Given the description of an element on the screen output the (x, y) to click on. 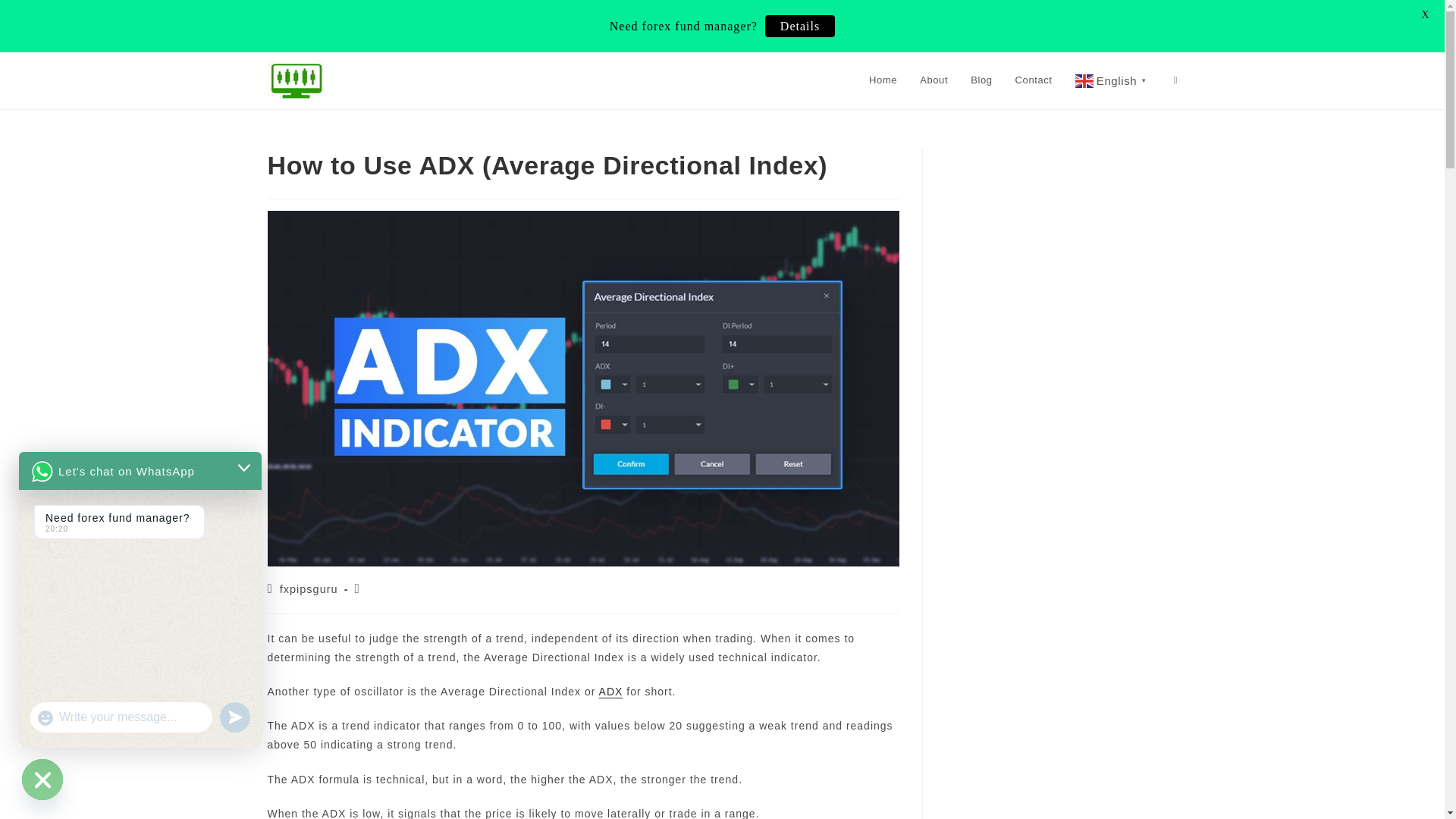
Contact (1034, 80)
About (933, 80)
Blog (981, 80)
Home (882, 80)
ADX (610, 691)
Posts by fxpipsguru (308, 589)
fxpipsguru (308, 589)
